Given the description of an element on the screen output the (x, y) to click on. 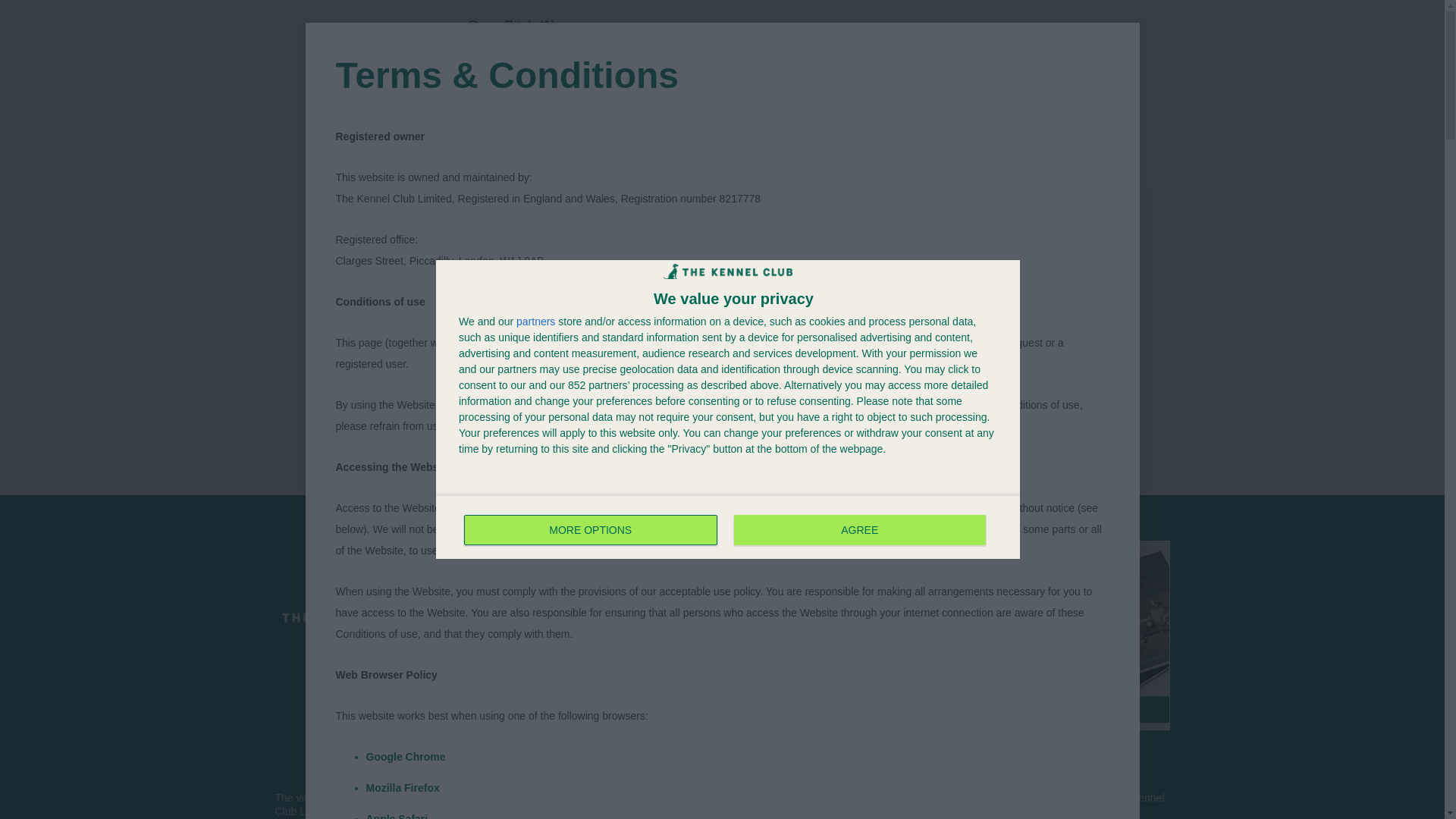
Privacy Policy (644, 693)
